Given the description of an element on the screen output the (x, y) to click on. 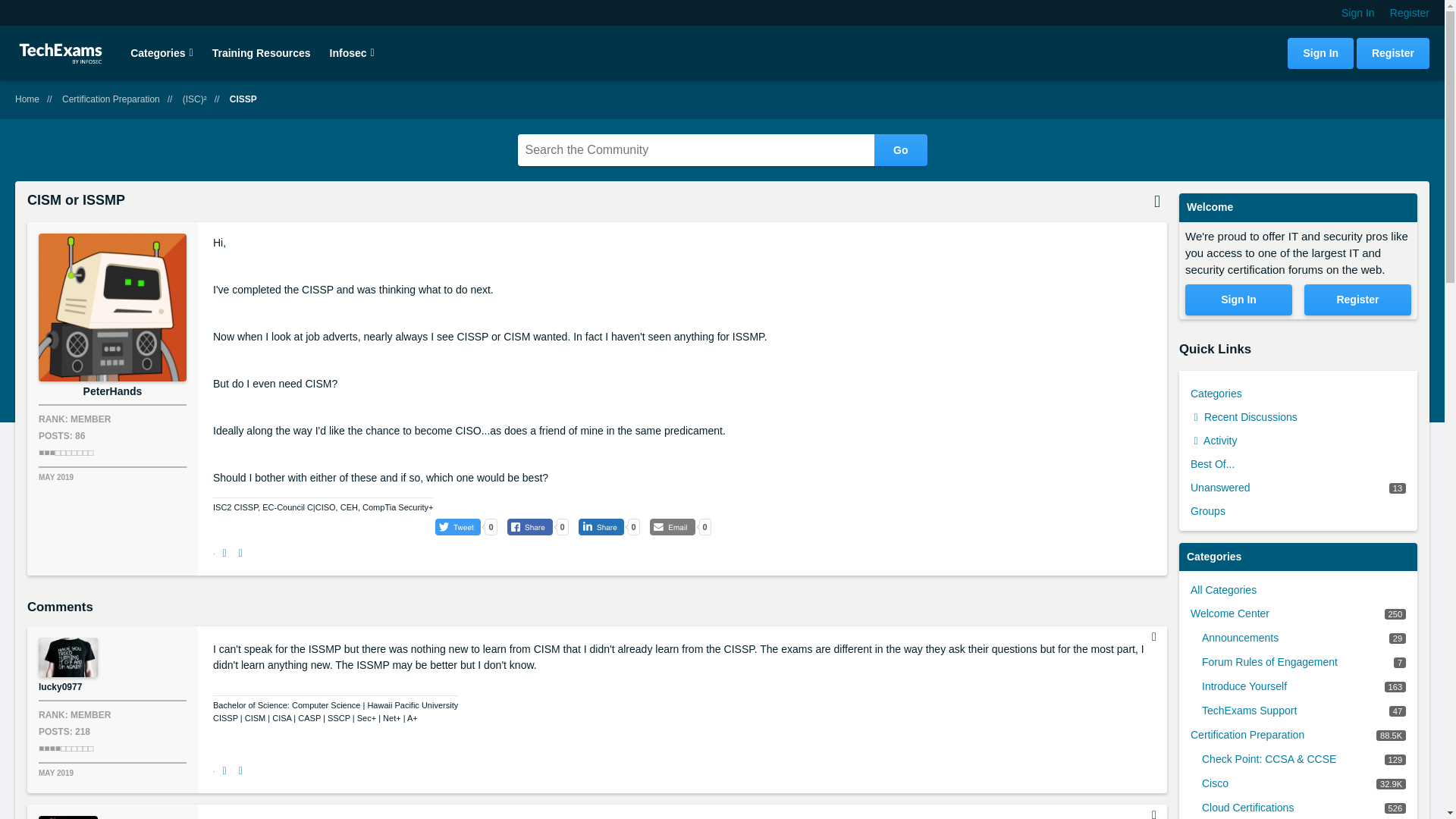
Home (26, 99)
fitzlopez (68, 817)
CISSP (243, 99)
lucky0977 (68, 657)
May 10, 2019 7:58PM (56, 773)
Go (900, 150)
Go (900, 150)
Share on Twitter (240, 553)
Sign In (1320, 52)
PeterHands (112, 307)
PeterHands (112, 390)
Share on Facebook (225, 553)
Training Resources (261, 52)
Sign In (1357, 12)
Student (66, 452)
